Given the description of an element on the screen output the (x, y) to click on. 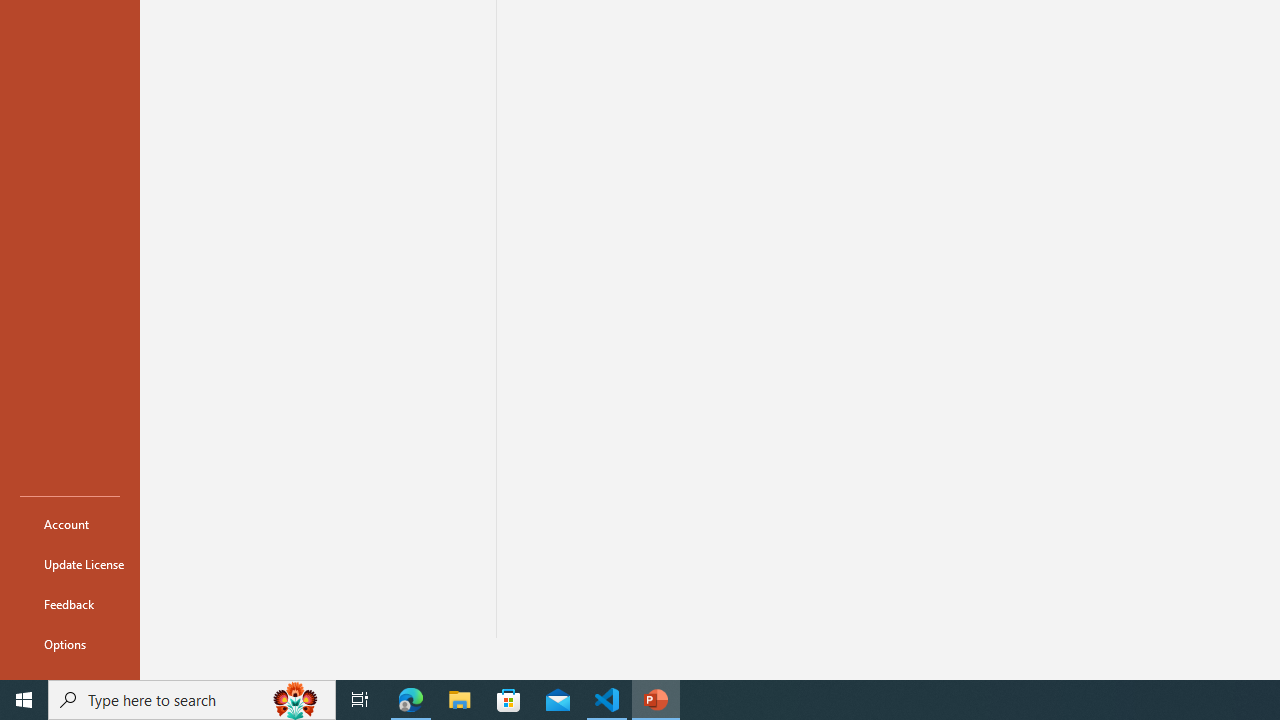
Account (69, 523)
Feedback (69, 603)
Options (69, 643)
Update License (69, 563)
